Given the description of an element on the screen output the (x, y) to click on. 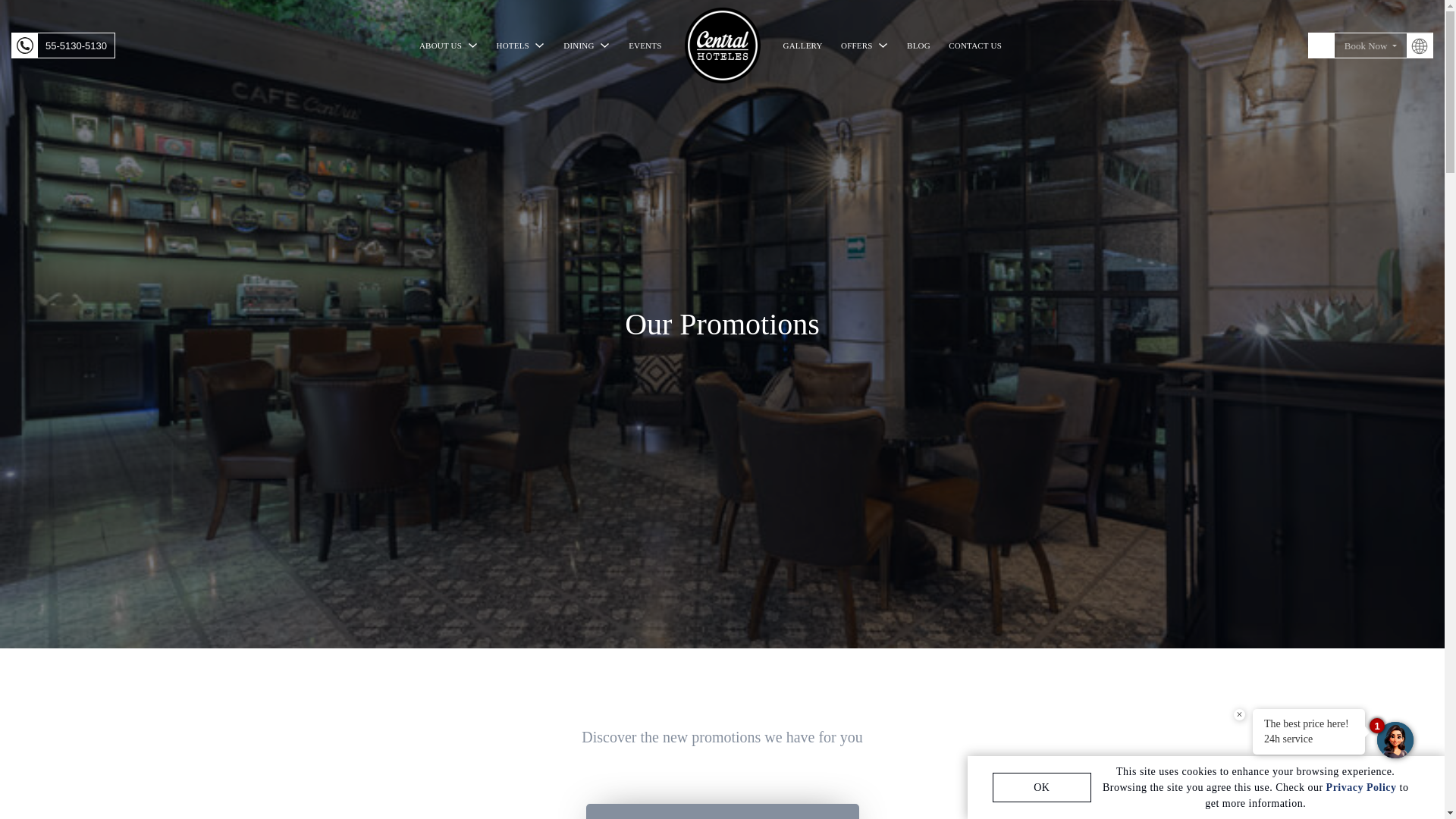
ABOUT US (448, 56)
OFFERS (864, 45)
GALLERY (801, 45)
DINING (586, 45)
EVENTS (644, 45)
HOTELS (521, 45)
55-5130-5130 (63, 45)
